Given the description of an element on the screen output the (x, y) to click on. 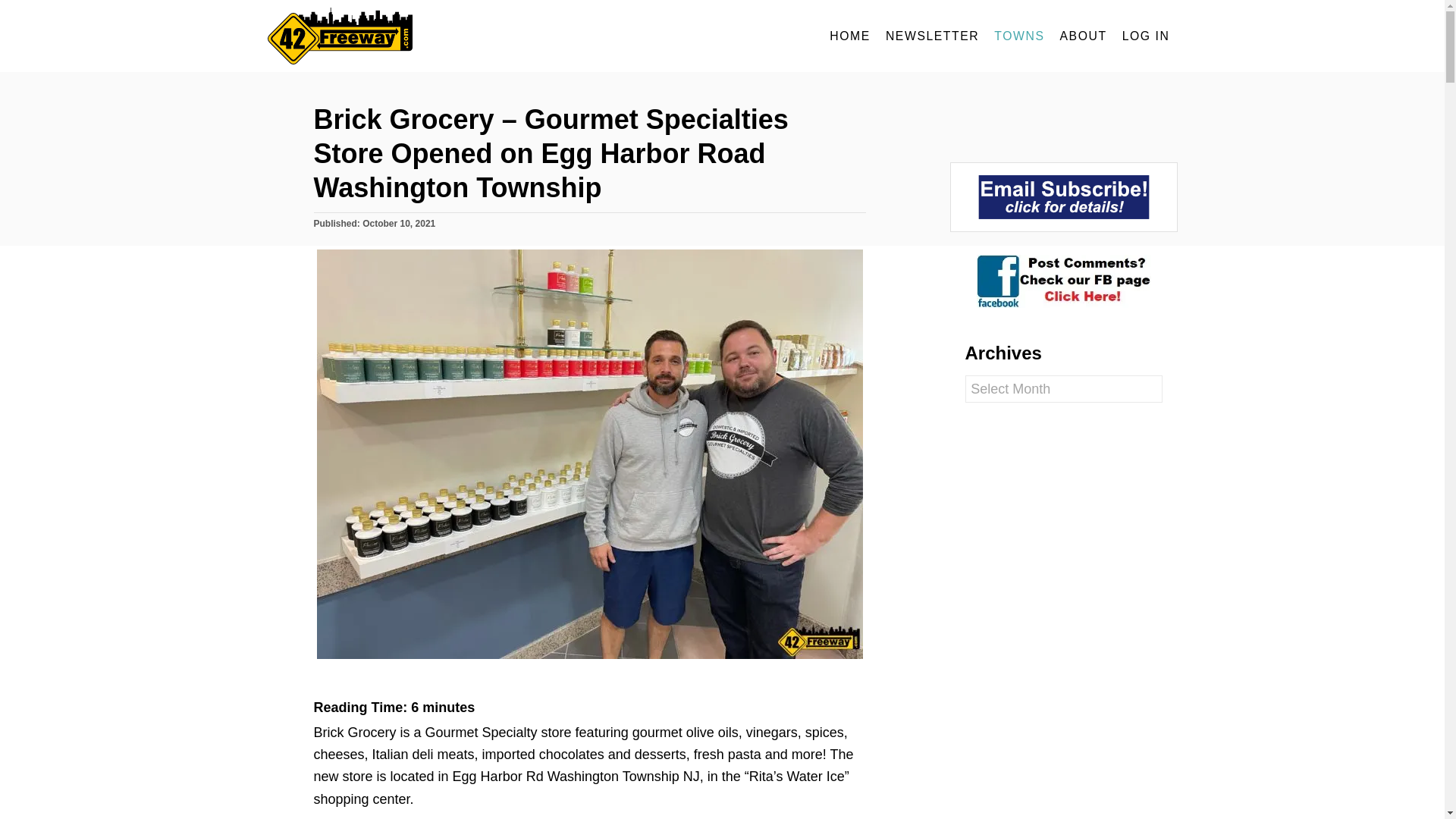
NEWSLETTER (932, 36)
TOWNS (1019, 36)
42 Freeway (403, 36)
ABOUT (1083, 36)
LOG IN (1146, 36)
HOME (849, 36)
